Given the description of an element on the screen output the (x, y) to click on. 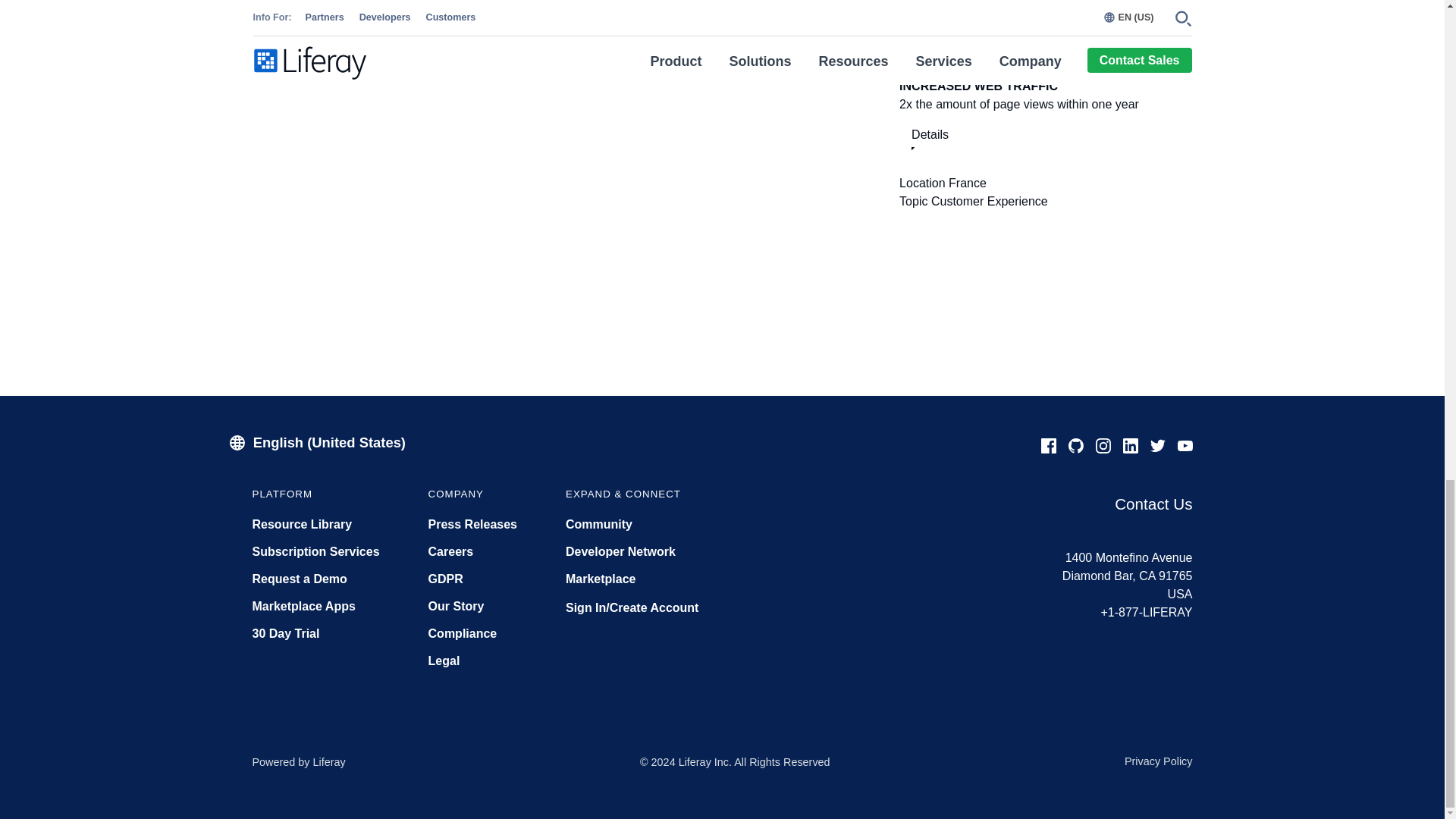
GitHub (1075, 451)
Facebook (1047, 451)
Instagram (1102, 451)
LinkedIn (1129, 451)
Twitter (1156, 451)
YouTube (1184, 451)
